Given the description of an element on the screen output the (x, y) to click on. 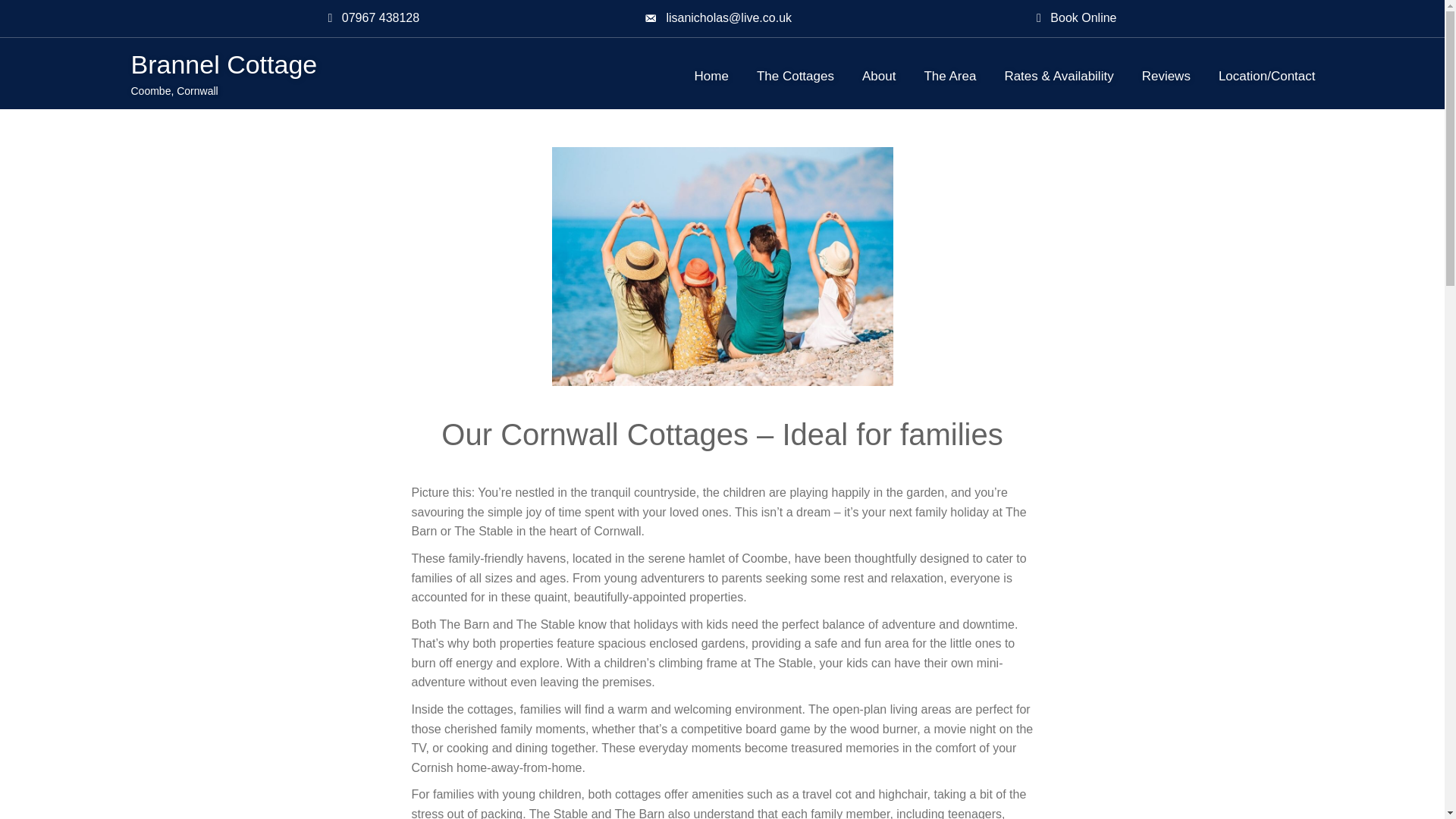
Reviews (1166, 75)
Brannel Cottage (224, 63)
The Cottages (794, 75)
The Area (950, 75)
07967 438128 (373, 15)
Coombe, Cornwall (173, 91)
Coombe, Cornwall (173, 91)
Home (711, 75)
About (878, 75)
Brannel Cottage (224, 63)
Book Online (1076, 15)
